Given the description of an element on the screen output the (x, y) to click on. 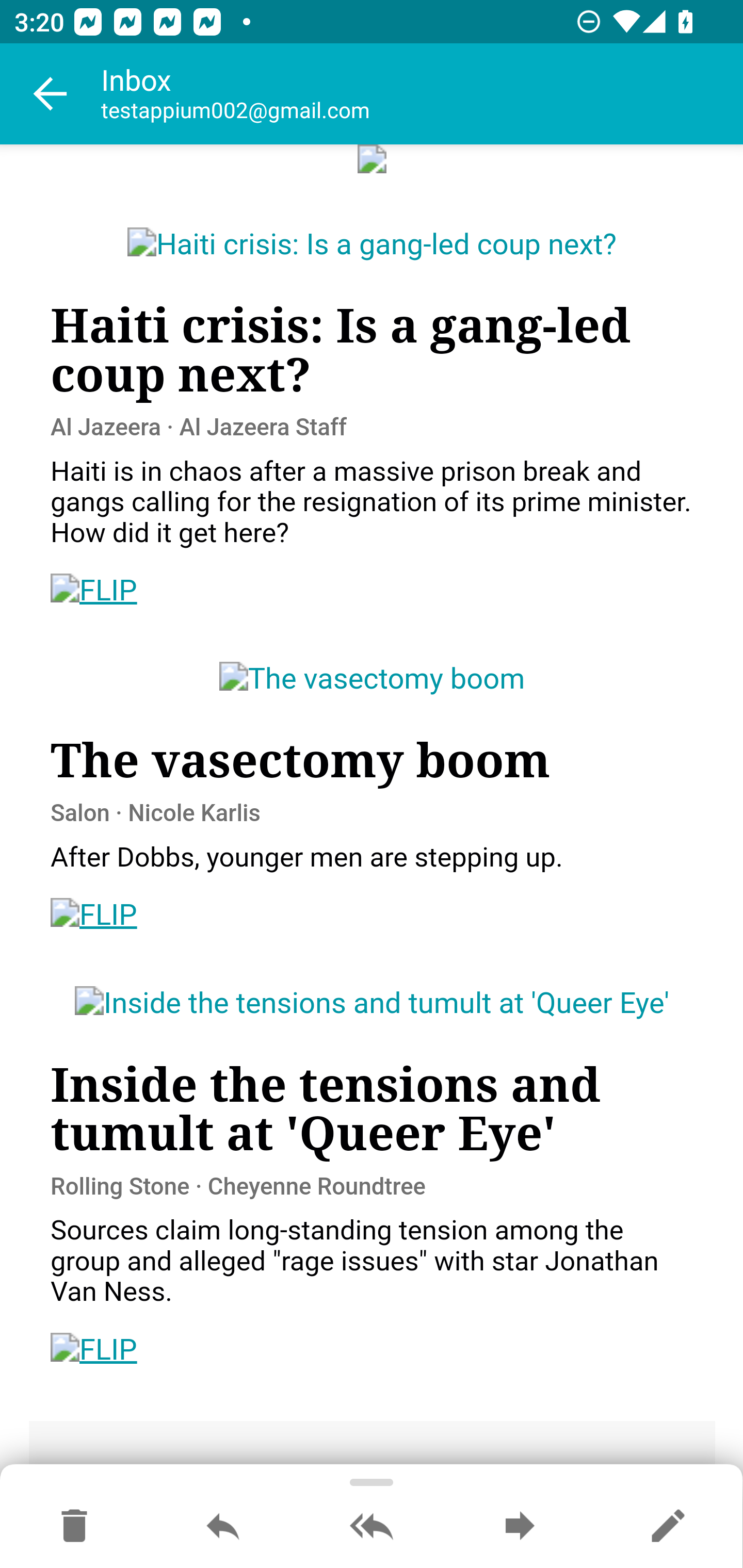
Navigate up (50, 93)
Inbox testappium002@gmail.com (422, 93)
data: (372, 159)
FLIP (93, 591)
FLIP (93, 916)
FLIP (93, 1350)
Move to Deleted (74, 1527)
Reply (222, 1527)
Reply all (371, 1527)
Forward (519, 1527)
Reply as new (667, 1527)
